Given the description of an element on the screen output the (x, y) to click on. 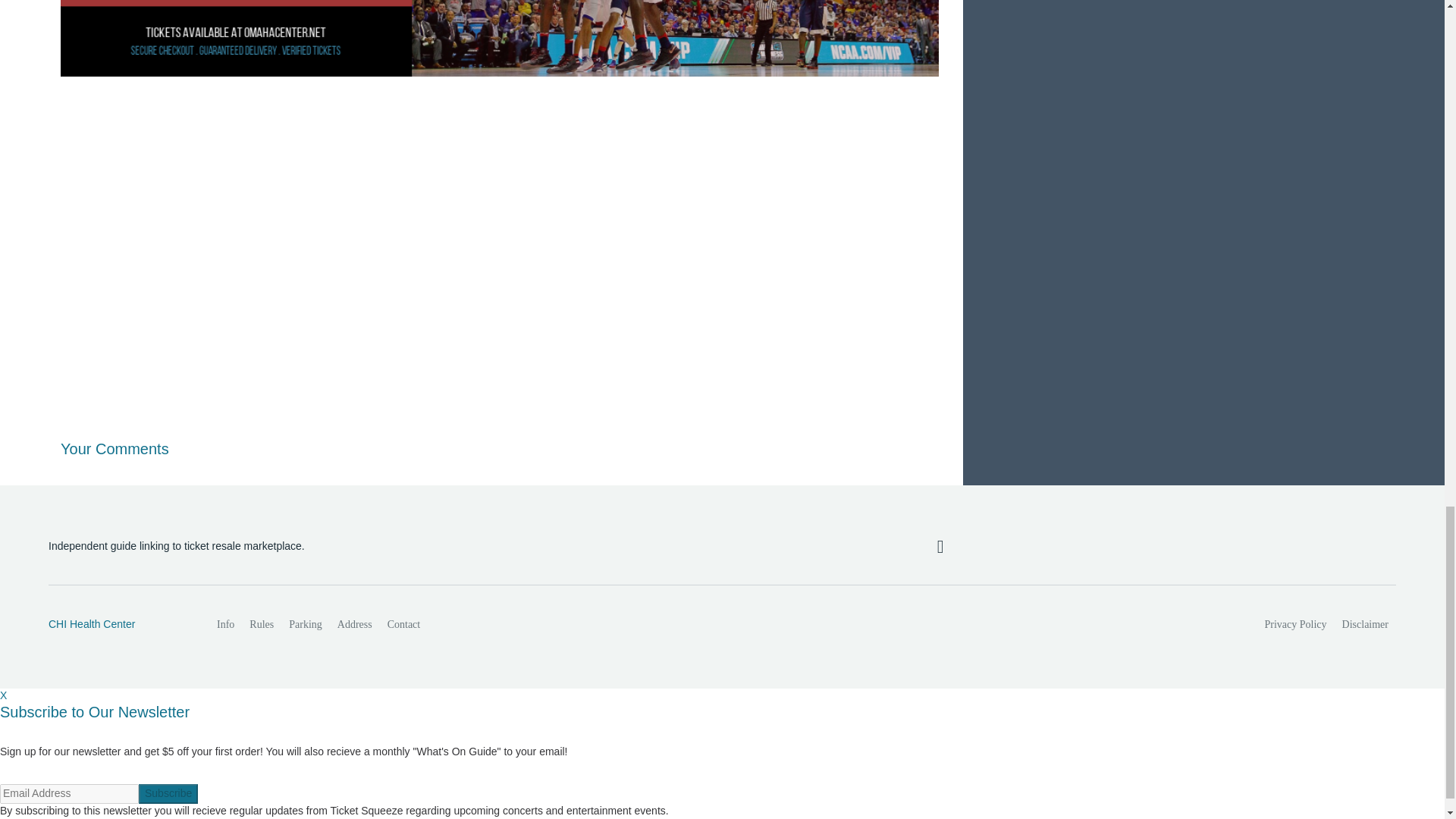
Address (355, 624)
Privacy Policy (1296, 624)
Parking (305, 624)
Subscribe (168, 793)
CHI Health Center (116, 624)
Contact (404, 624)
Rules (261, 624)
Disclaimer (1365, 624)
Info (225, 624)
